Given the description of an element on the screen output the (x, y) to click on. 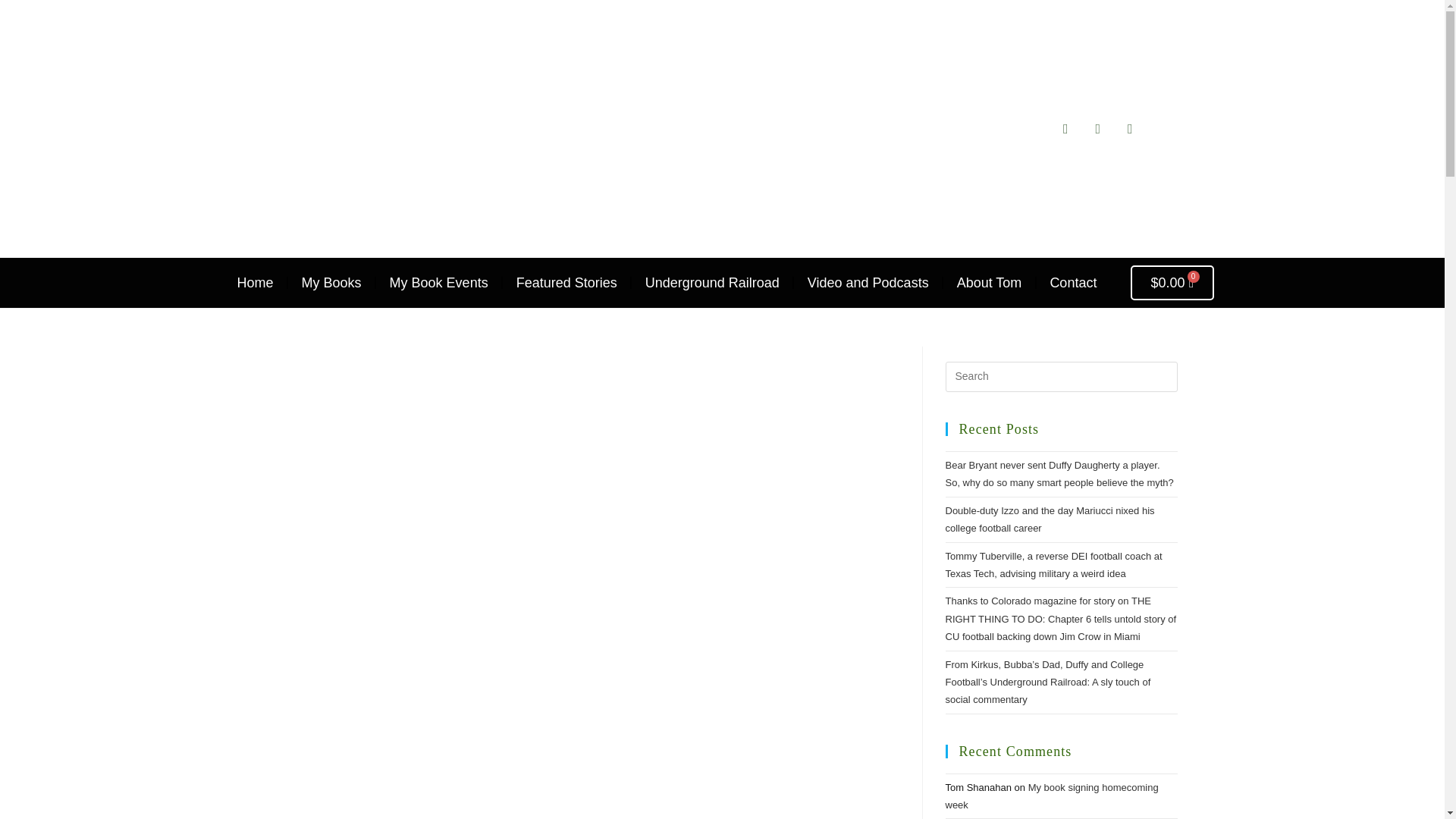
Underground Railroad (711, 282)
Video and Podcasts (868, 282)
About Tom (989, 282)
Contact (1072, 282)
My Book Events (438, 282)
My Books (331, 282)
Featured Stories (566, 282)
Home (255, 282)
